Given the description of an element on the screen output the (x, y) to click on. 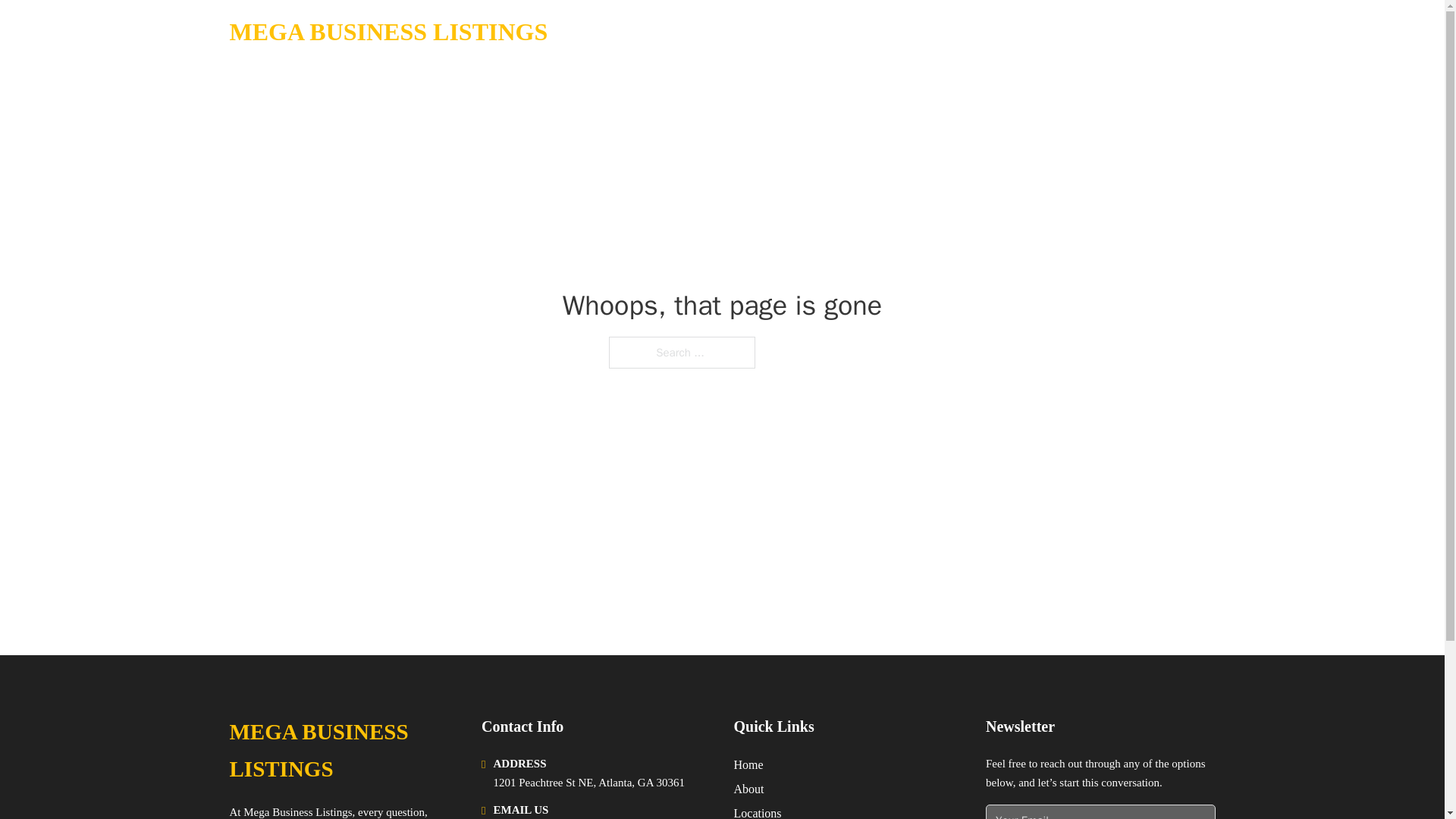
MEGA BUSINESS LISTINGS (387, 31)
About (748, 788)
Locations (757, 811)
Home (747, 764)
HOME (1025, 31)
LOCATIONS (1098, 31)
MEGA BUSINESS LISTINGS (343, 750)
